Given the description of an element on the screen output the (x, y) to click on. 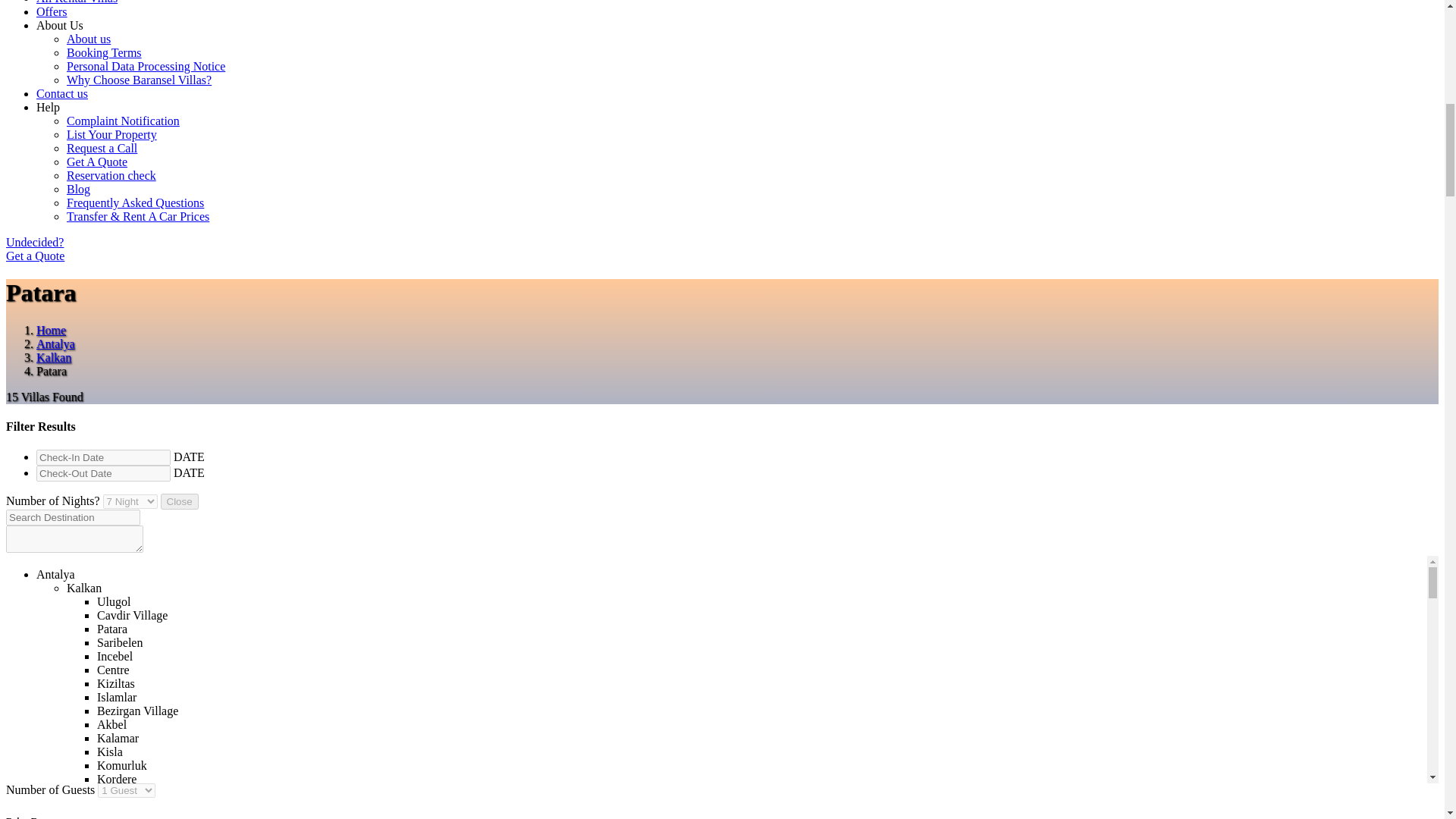
Close (179, 501)
